Given the description of an element on the screen output the (x, y) to click on. 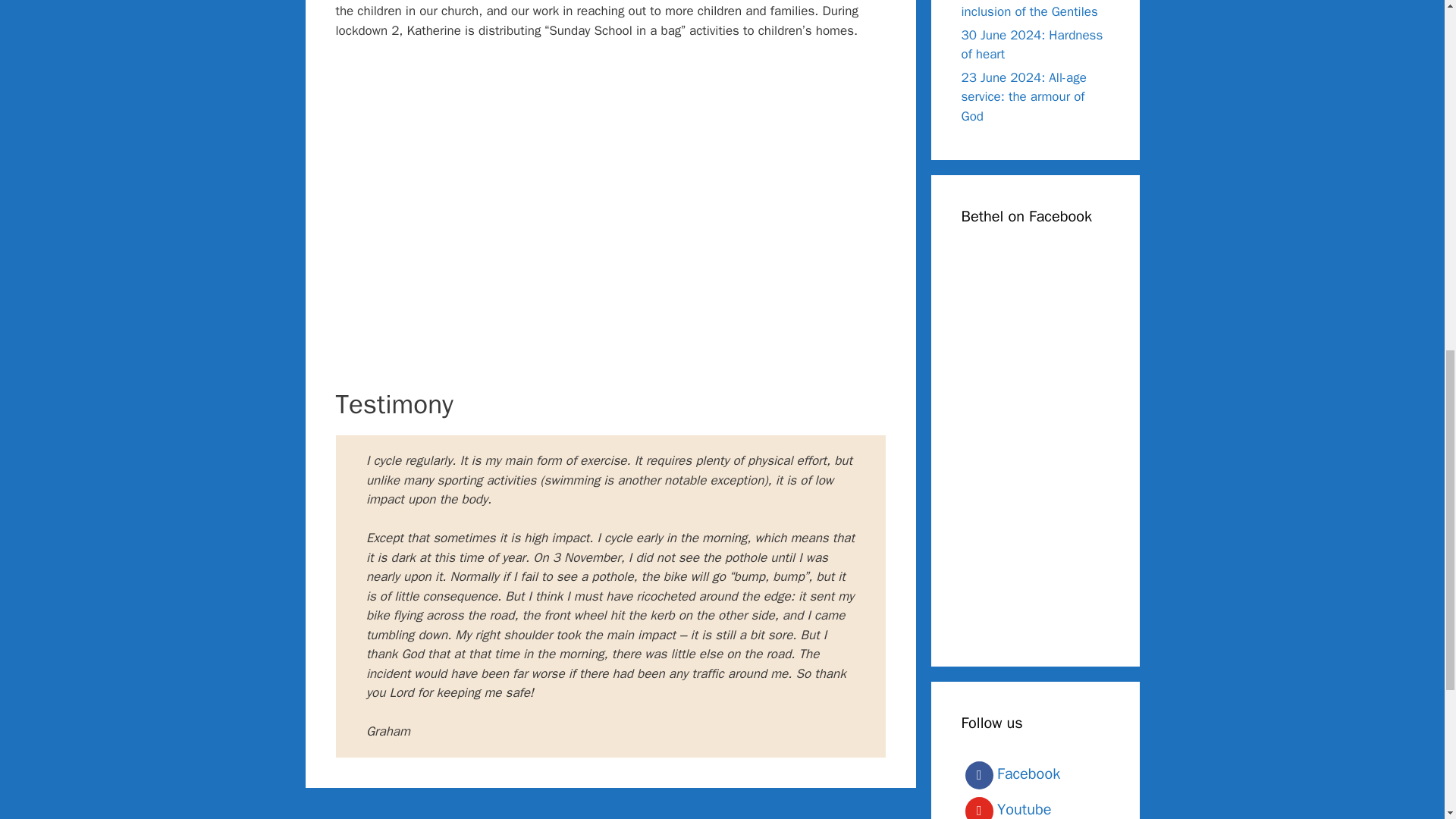
Facebook (1034, 774)
Youtube (1034, 806)
